Given the description of an element on the screen output the (x, y) to click on. 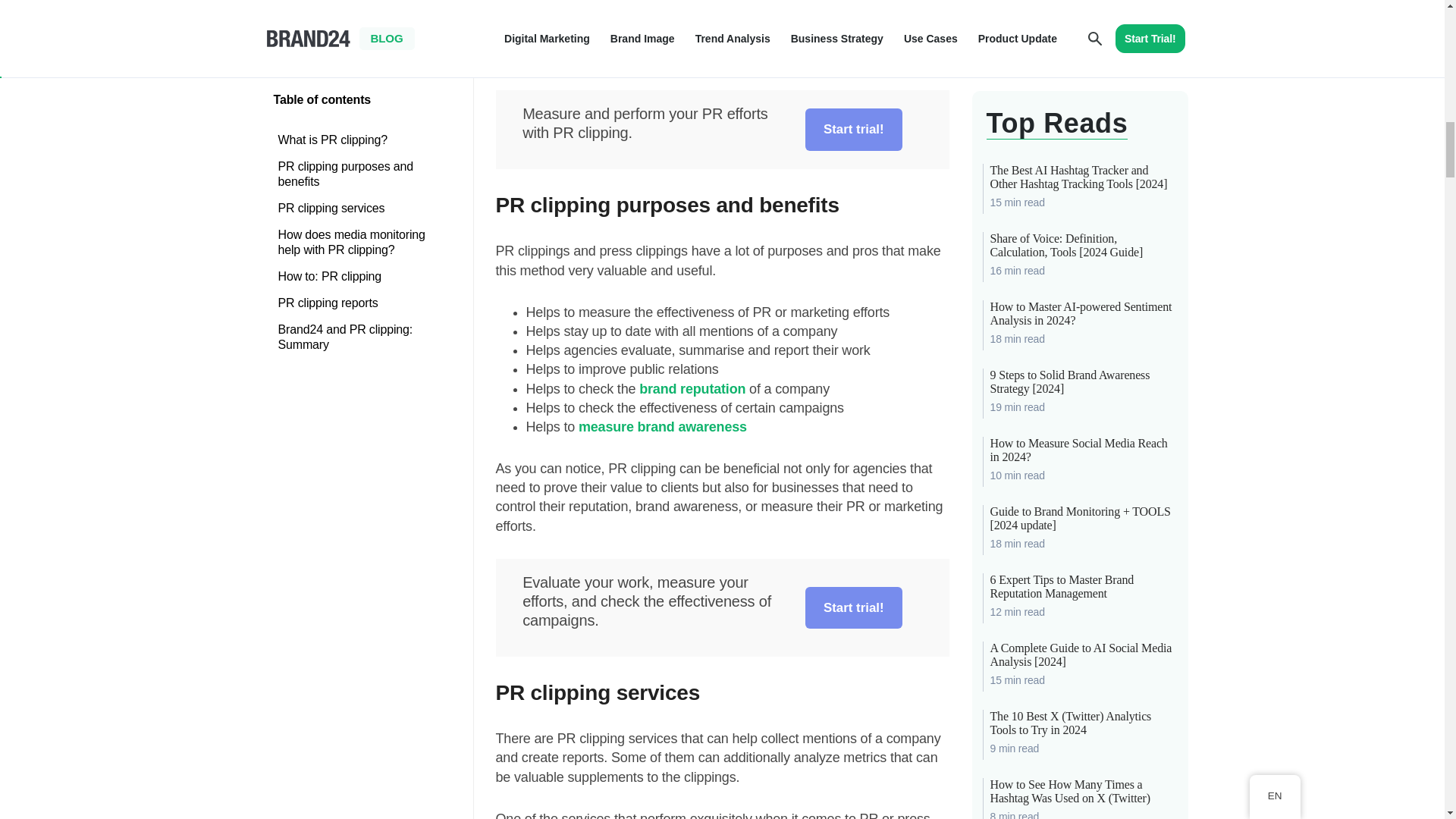
Start trial! (853, 608)
brand reputation (692, 388)
measure brand awareness (662, 426)
Start trial! (853, 129)
